Given the description of an element on the screen output the (x, y) to click on. 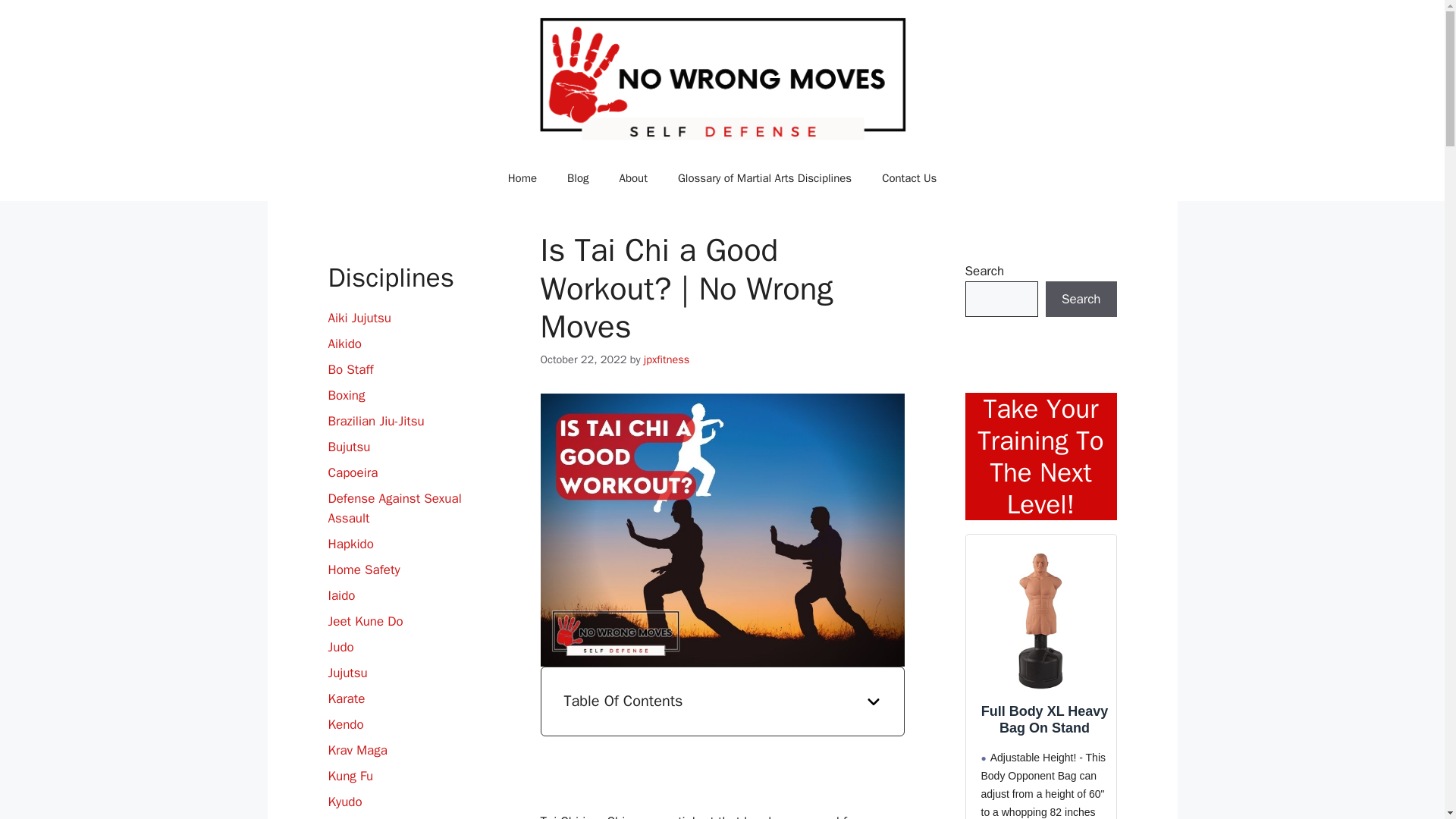
Judo (340, 647)
Jeet Kune Do (365, 621)
Defense Against Sexual Assault (394, 508)
Aiki Jujutsu (359, 317)
Glossary of Martial Arts Disciplines (764, 177)
Contact Us (909, 177)
Hapkido (349, 544)
About (633, 177)
Home Safety (362, 569)
Capoeira (352, 472)
Brazilian Jiu-Jitsu (375, 421)
Boxing (346, 395)
Iaido (341, 595)
Home (522, 177)
Bujutsu (348, 446)
